Given the description of an element on the screen output the (x, y) to click on. 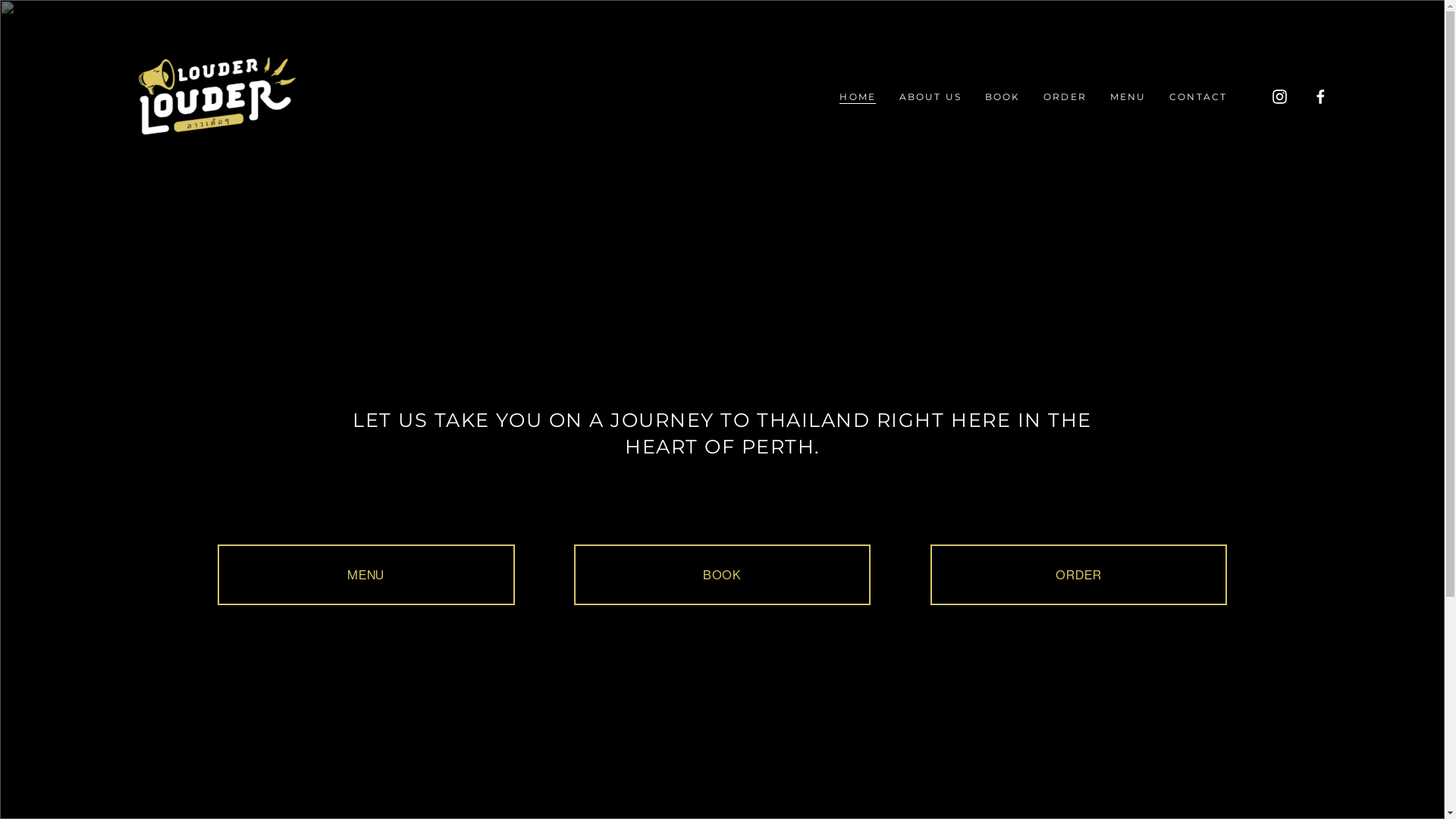
ABOUT US Element type: text (930, 96)
MENU Element type: text (1128, 96)
ORDER Element type: text (1064, 96)
BOOK Element type: text (1002, 96)
CONTACT Element type: text (1197, 96)
HOME Element type: text (857, 96)
BOOK Element type: text (722, 574)
ORDER Element type: text (1077, 574)
MENU Element type: text (365, 574)
